Given the description of an element on the screen output the (x, y) to click on. 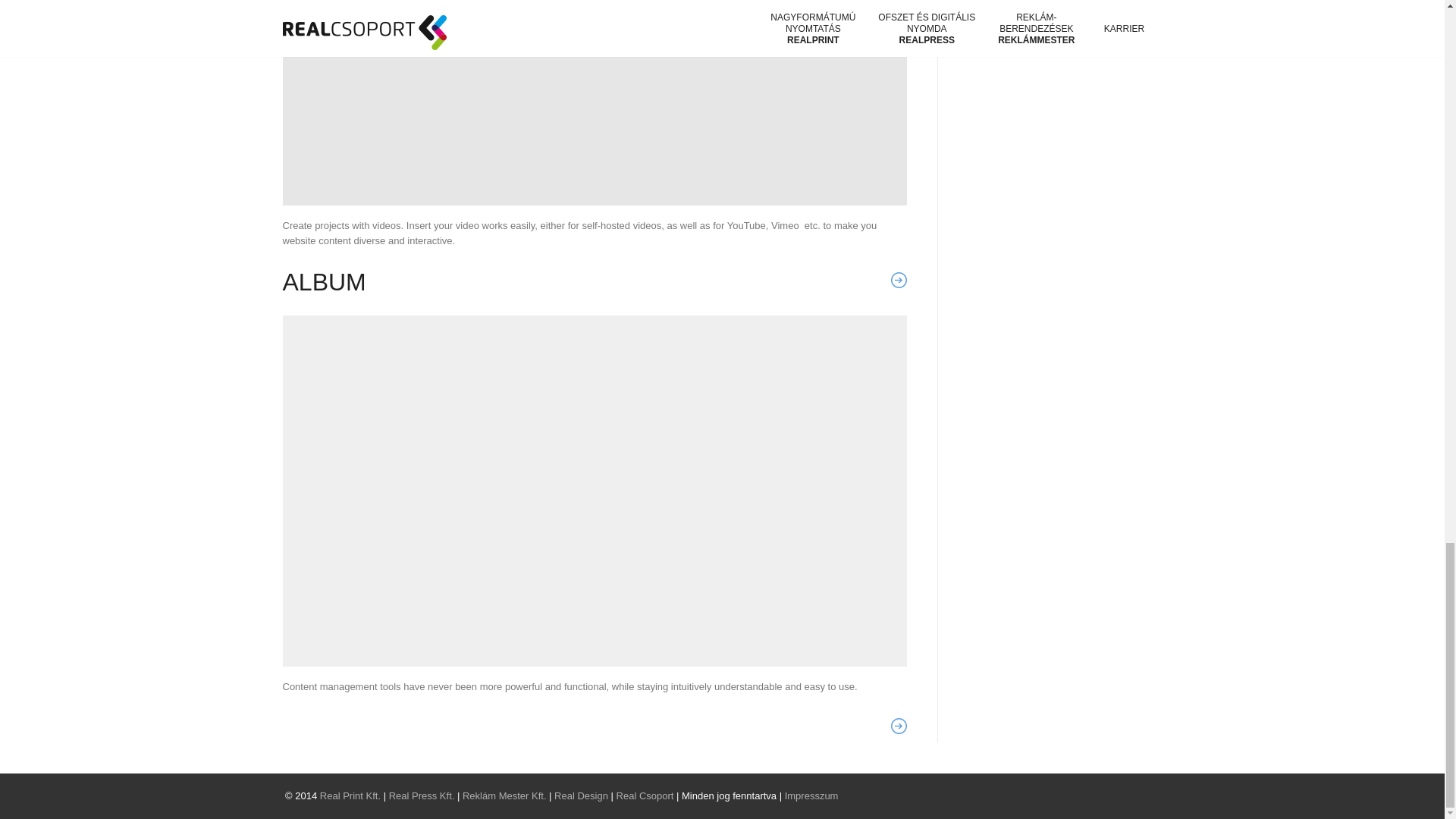
Video project (594, 102)
ALBUM (323, 281)
